Given the description of an element on the screen output the (x, y) to click on. 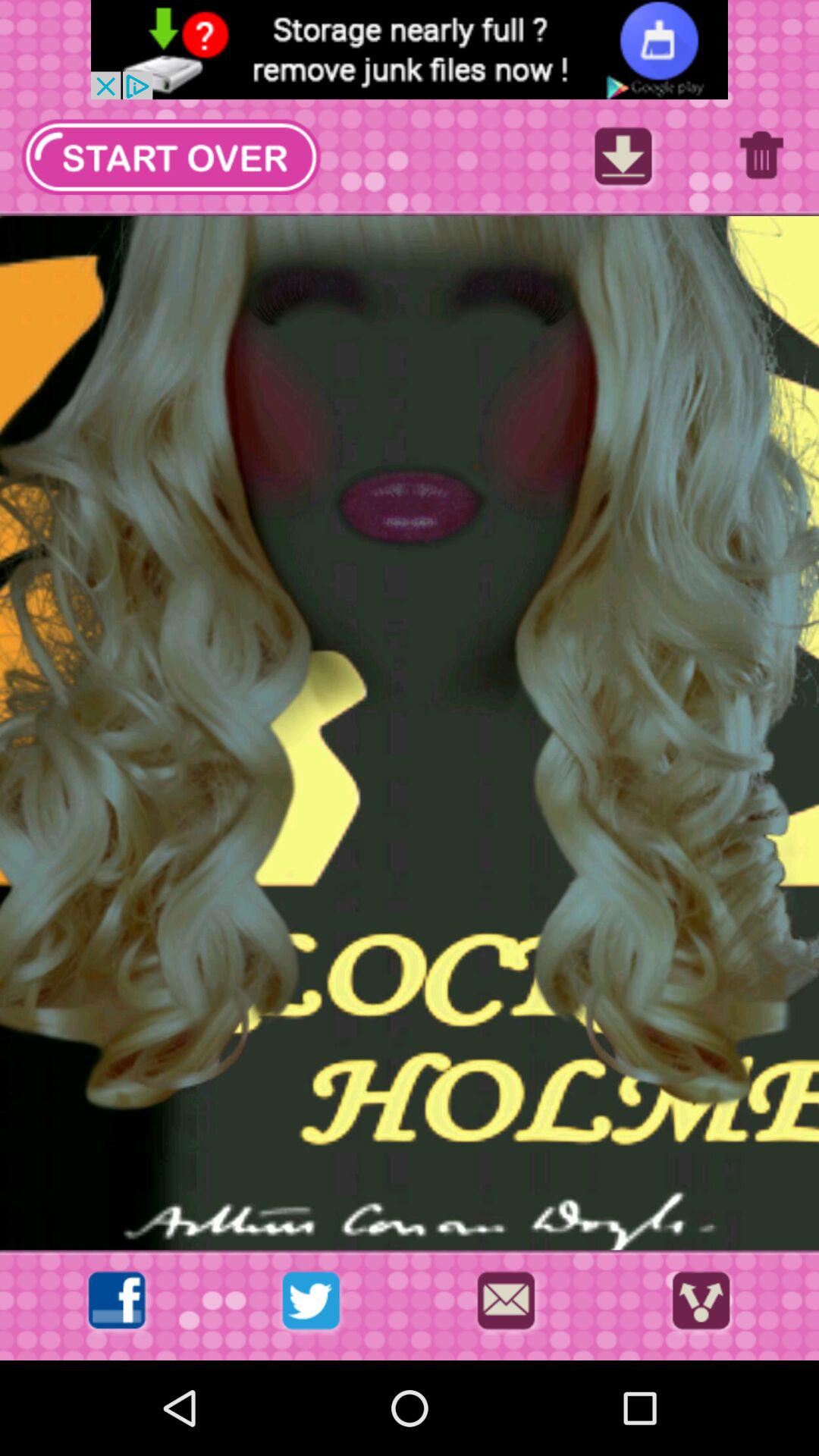
go to twitter (310, 1305)
